Given the description of an element on the screen output the (x, y) to click on. 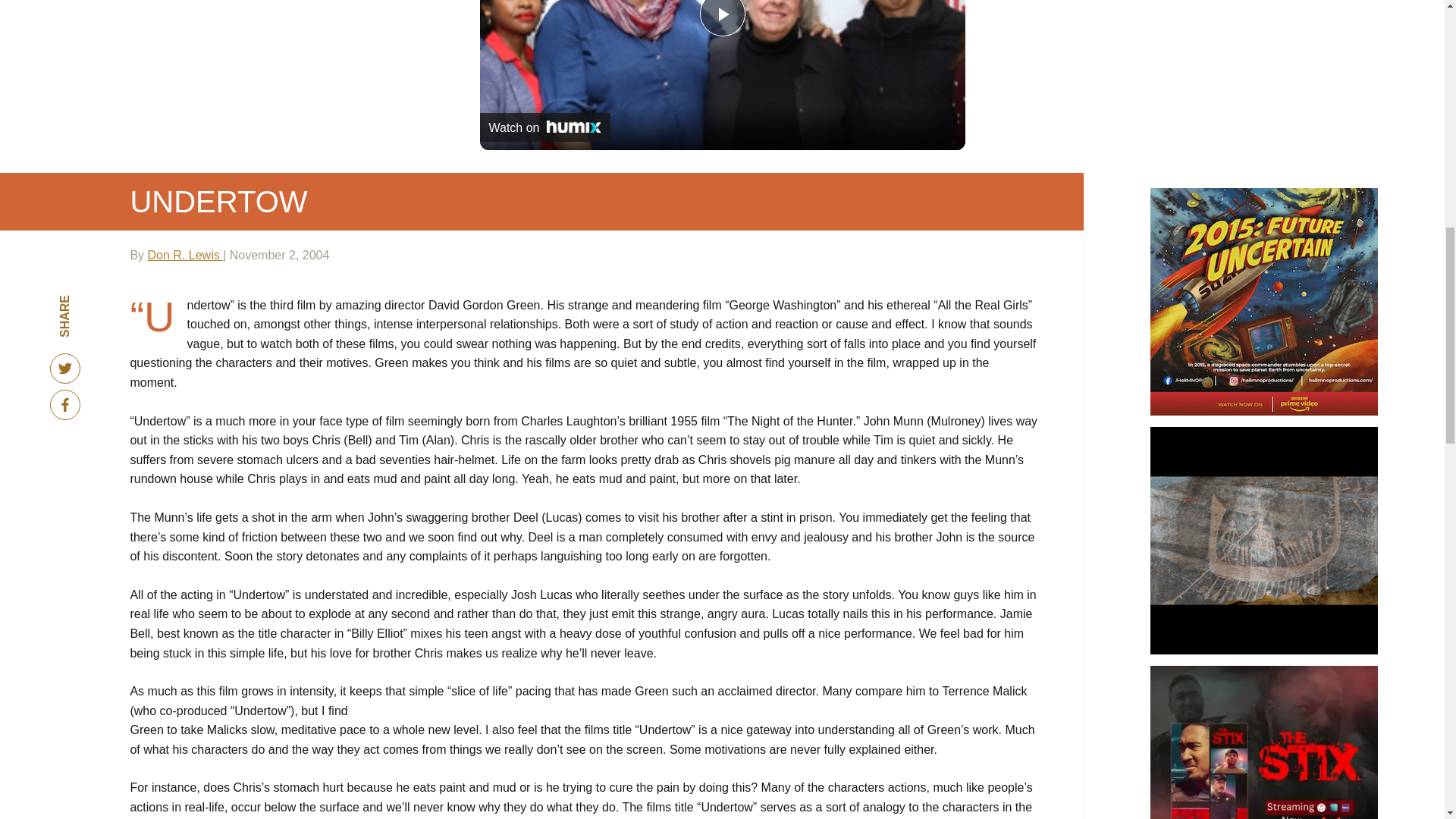
Don R. Lewis (186, 254)
Play Video (721, 18)
Play Video (721, 18)
Watch on (544, 127)
